Given the description of an element on the screen output the (x, y) to click on. 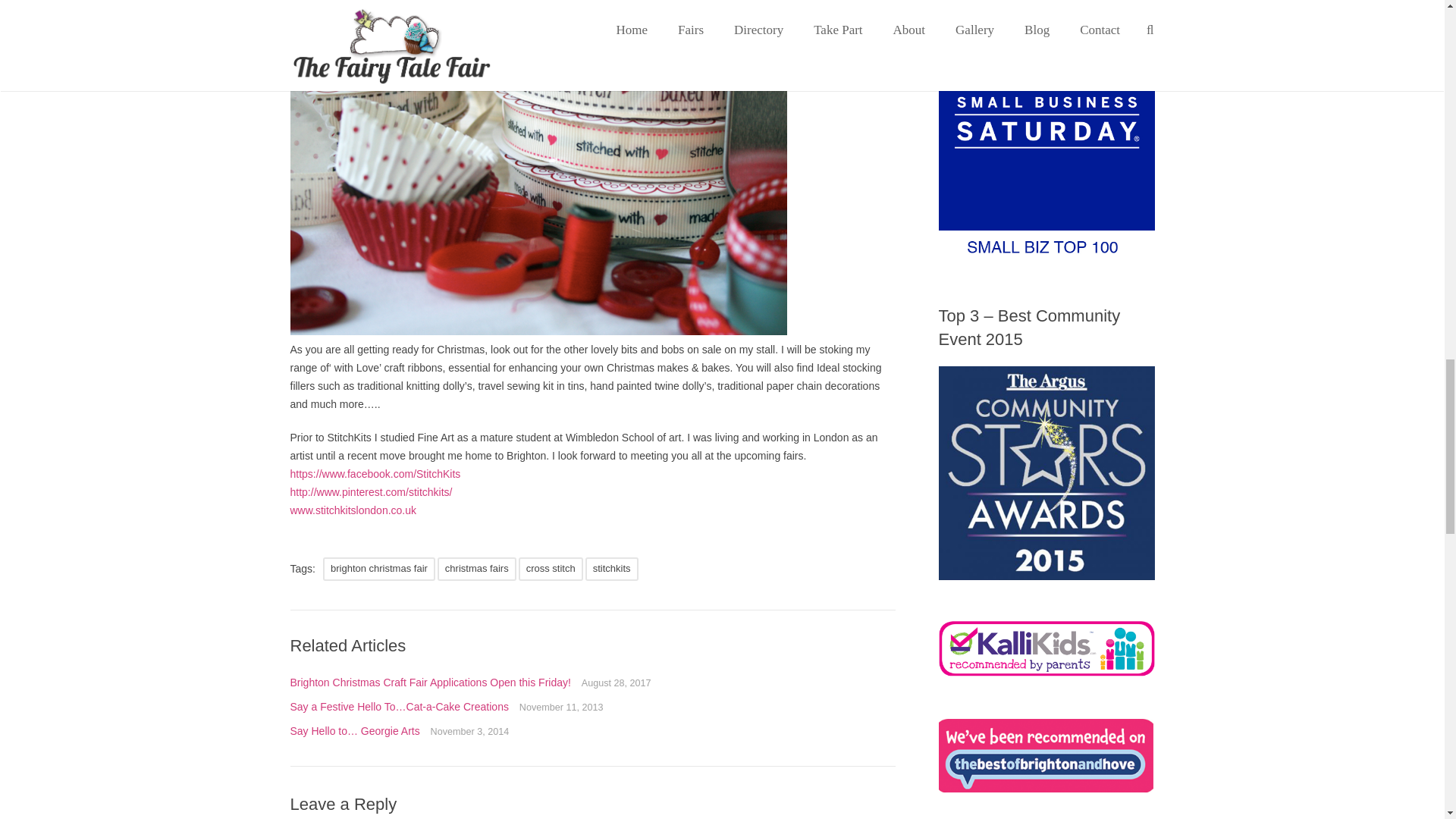
stitchkits (612, 568)
www.stitchkitslondon.co.uk (352, 510)
cross stitch (550, 568)
brighton christmas fair (379, 568)
Brighton Christmas Craft Fair Applications Open this Friday! (431, 682)
christmas fairs (477, 568)
